Given the description of an element on the screen output the (x, y) to click on. 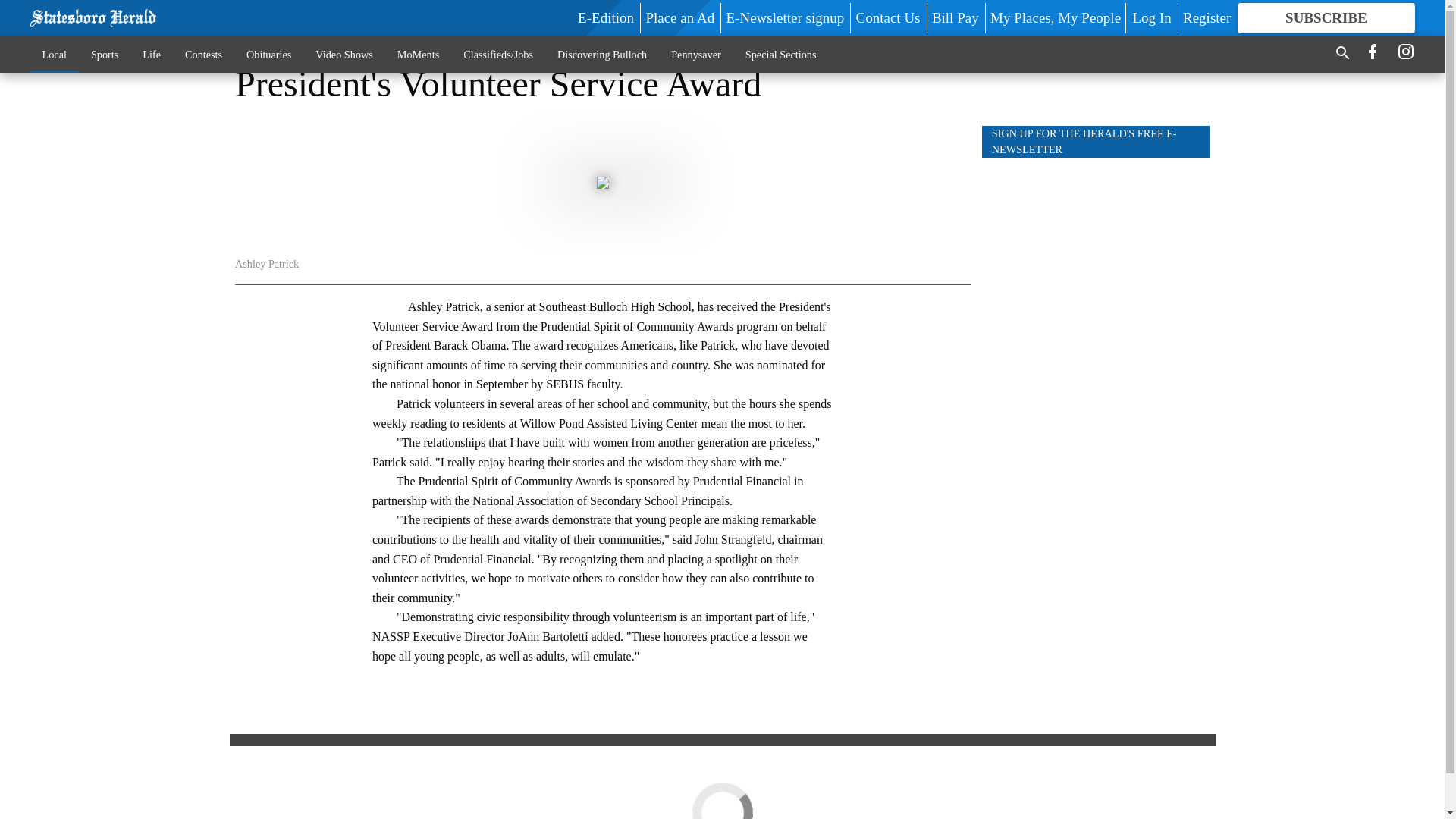
Register (1206, 17)
Place an Ad (679, 17)
E-Edition (605, 17)
Log In (1151, 17)
E-Newsletter signup (785, 17)
SUBSCRIBE (1325, 18)
Bill Pay (954, 17)
Contact Us (888, 17)
My Places, My People (1055, 17)
